Given the description of an element on the screen output the (x, y) to click on. 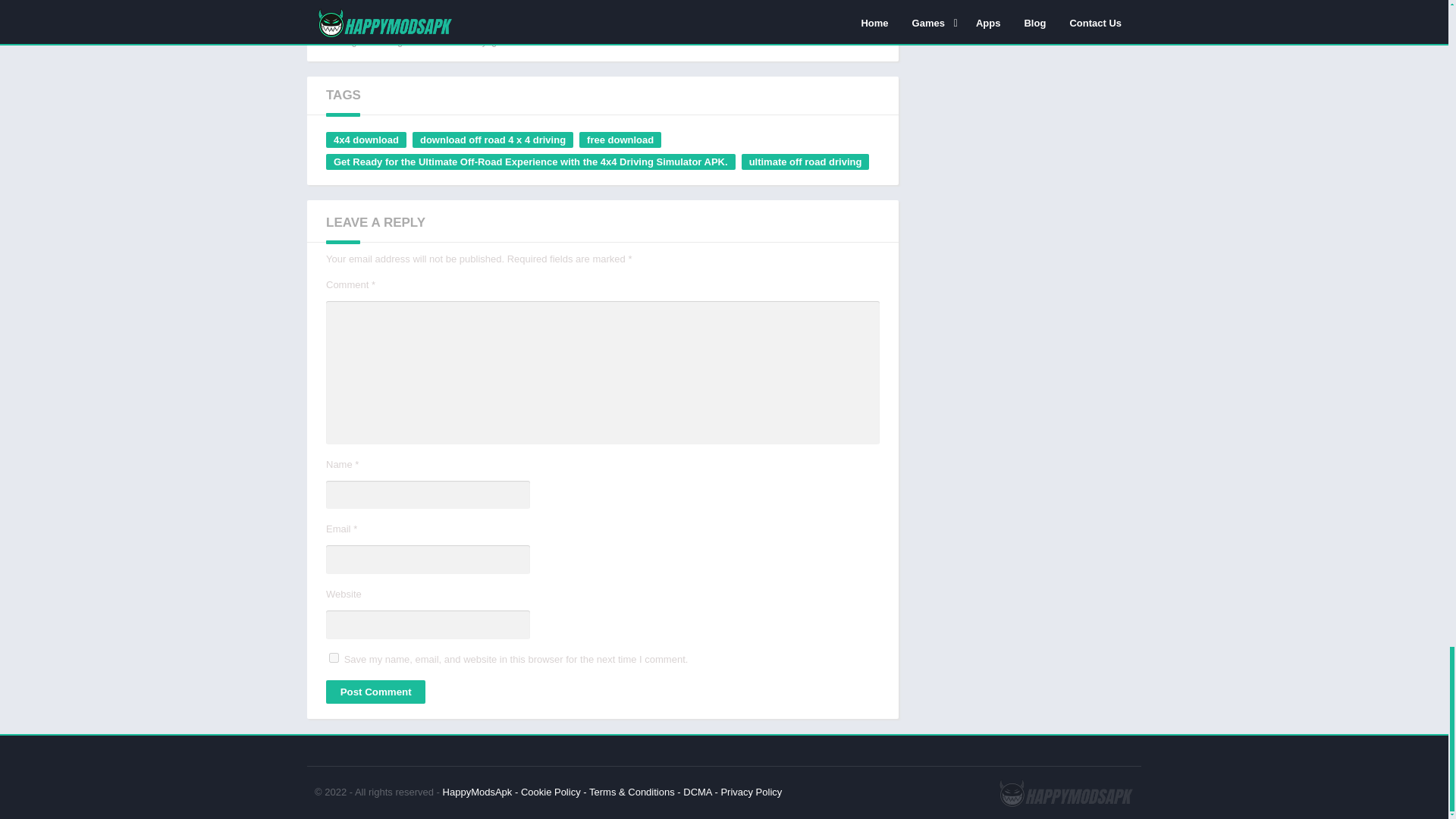
Post Comment (375, 690)
yes (334, 656)
